Given the description of an element on the screen output the (x, y) to click on. 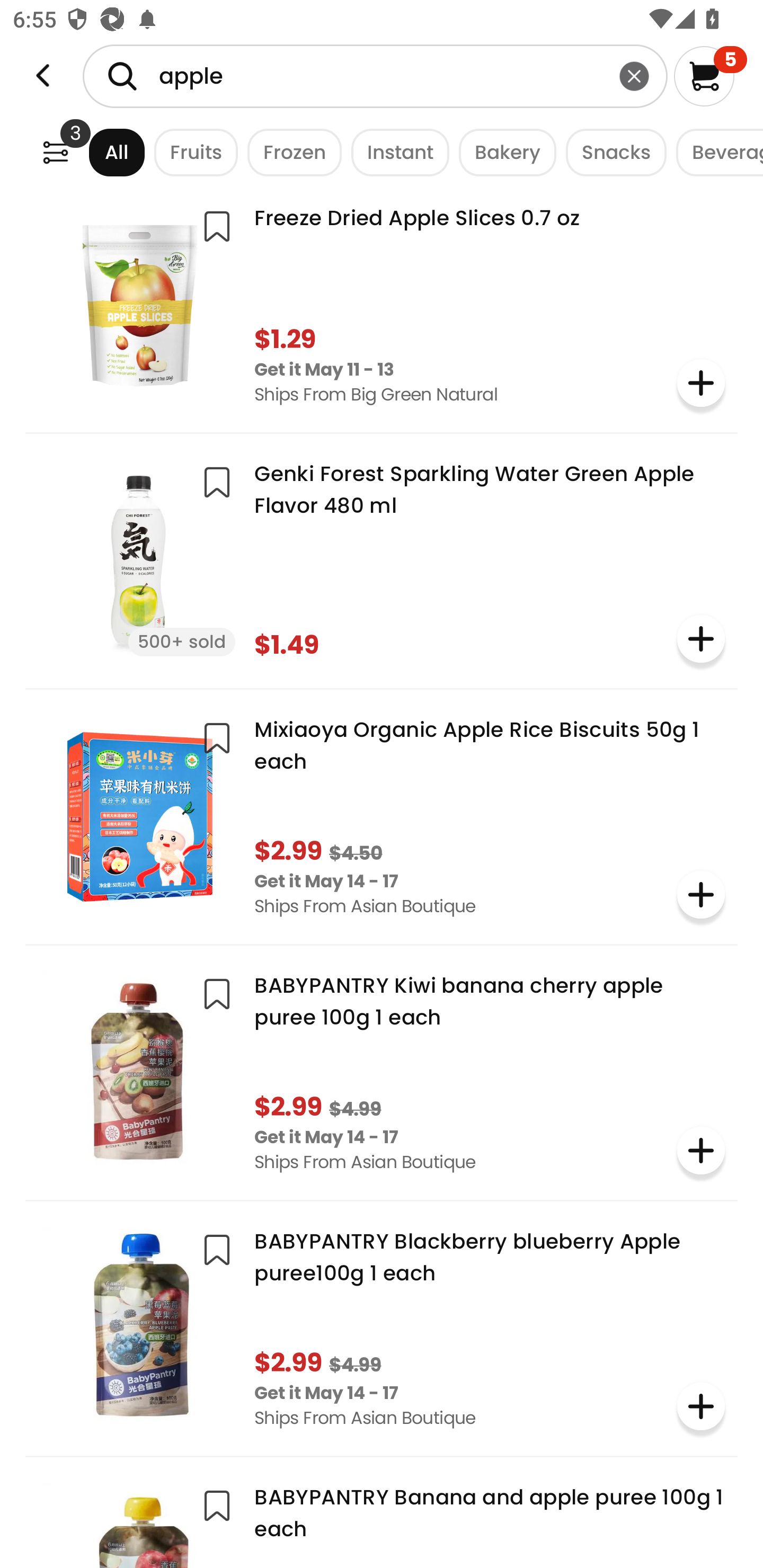
apple (374, 75)
5 (709, 75)
Weee! (42, 76)
Weee! (55, 151)
All (99, 151)
Fruits (191, 151)
Frozen (289, 151)
Instant (395, 151)
Bakery (502, 151)
Snacks (611, 151)
Beverages (714, 151)
BABYPANTRY Banana and apple puree 100g 1 each (381, 1519)
